Given the description of an element on the screen output the (x, y) to click on. 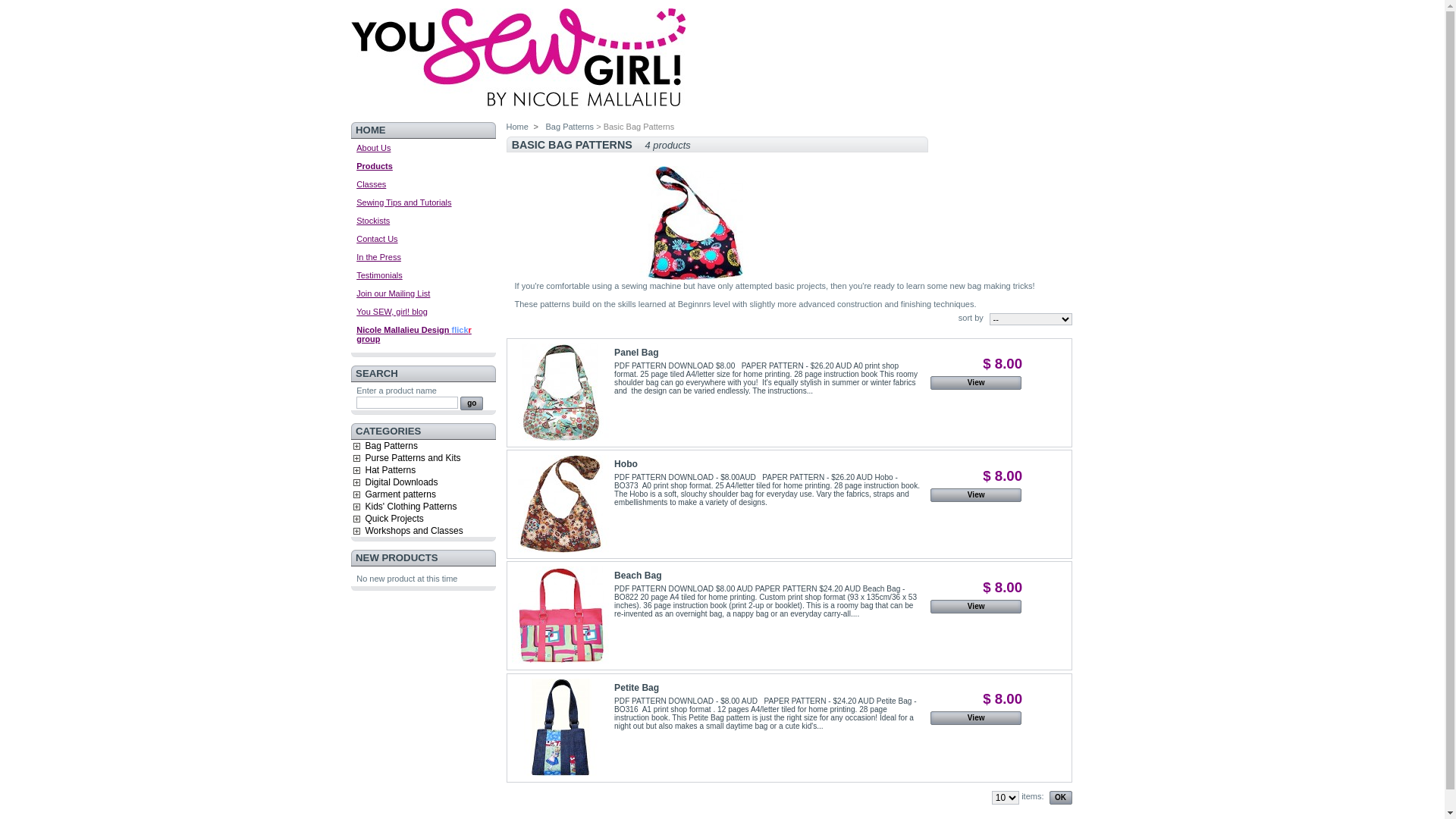
OK Element type: text (1060, 797)
Beach Bag Element type: text (638, 575)
Garment patterns Element type: text (400, 494)
NEW PRODUCTS Element type: text (396, 557)
Contact Us Element type: text (376, 237)
Join our Mailing List Element type: text (392, 292)
In the Press Element type: text (378, 255)
 Basic Bag Patterns Element type: hover (695, 222)
Hobo Element type: text (625, 463)
You SEW, girl! blog Element type: text (391, 310)
Petite Bag Element type: text (636, 687)
Classes Element type: text (370, 183)
Bag Patterns Element type: text (567, 126)
HOME Element type: text (370, 129)
Petite Bag Element type: hover (559, 728)
Beach Bag Element type: hover (559, 615)
Products Element type: text (374, 164)
Kids' Clothing Patterns Element type: text (411, 506)
Quick Projects Element type: text (394, 518)
View Element type: text (975, 606)
About Us Element type: text (373, 146)
go Element type: text (471, 403)
View Element type: text (975, 382)
View Element type: text (975, 717)
Testimonials Element type: text (379, 274)
Hobo Element type: hover (559, 504)
Home Element type: text (517, 126)
Workshops and Classes Element type: text (414, 530)
Nicole Mallalieu Design / You SEW Girl! Element type: hover (517, 111)
Panel Bag Element type: text (636, 352)
Nicole Mallalieu Design flickr group Element type: text (413, 333)
Stockists Element type: text (372, 219)
View Element type: text (975, 495)
Sewing Tips and Tutorials Element type: text (403, 201)
Digital Downloads Element type: text (401, 481)
Panel Bag Element type: hover (559, 392)
